Given the description of an element on the screen output the (x, y) to click on. 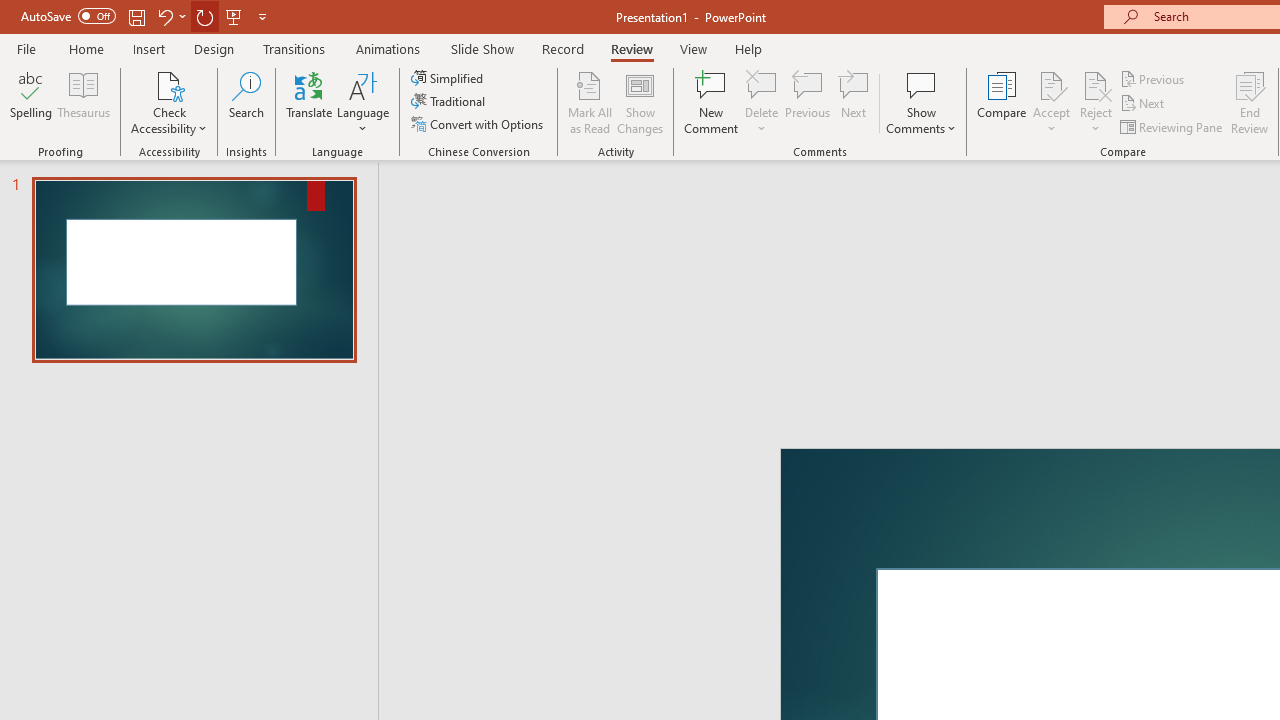
Reviewing Pane (1172, 126)
End Review (1249, 102)
Thesaurus... (83, 102)
Previous (1153, 78)
Reject (1096, 102)
Simplified (449, 78)
Language (363, 102)
Reject Change (1096, 84)
